Given the description of an element on the screen output the (x, y) to click on. 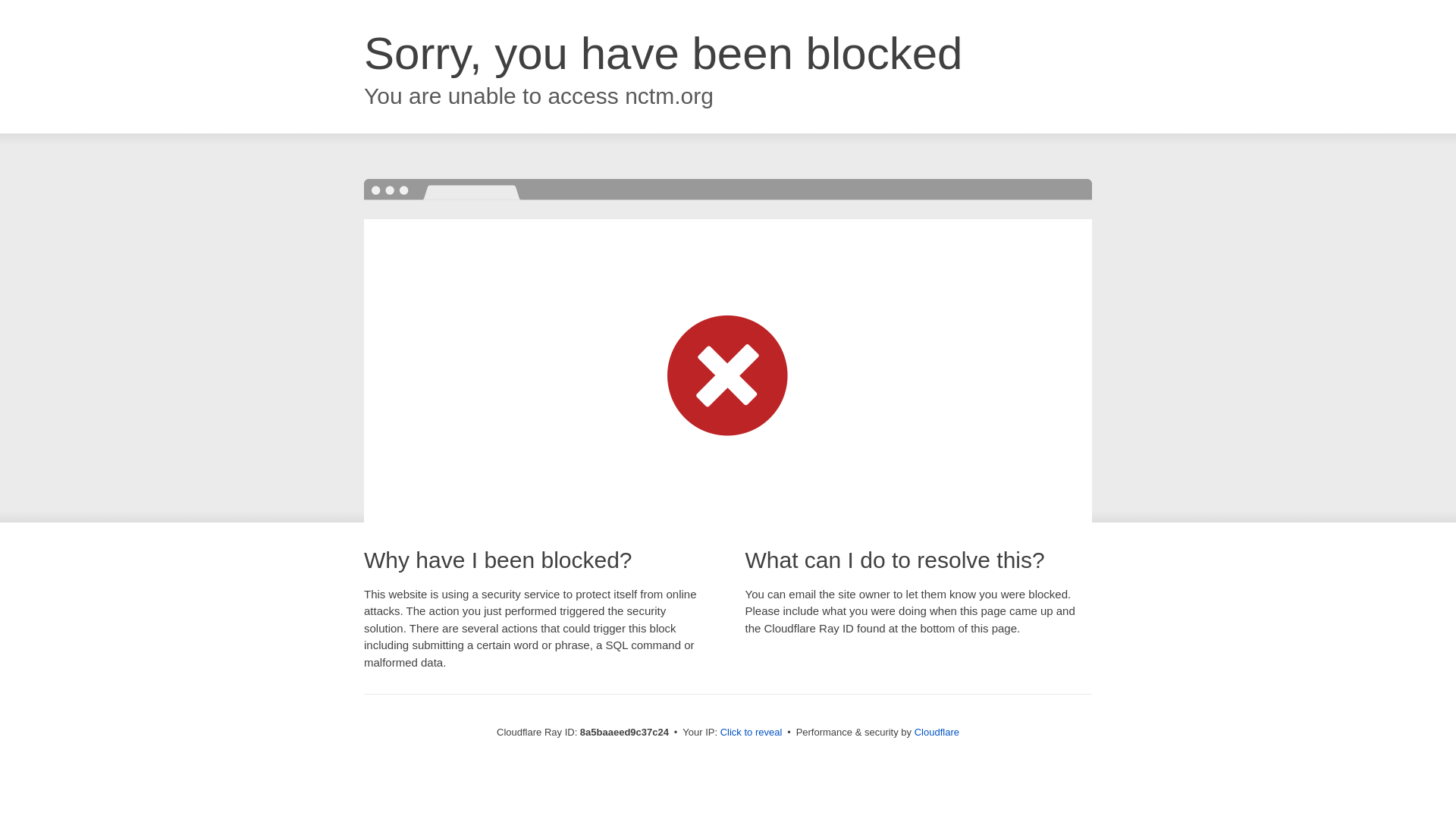
Cloudflare (936, 731)
Click to reveal (751, 732)
